Given the description of an element on the screen output the (x, y) to click on. 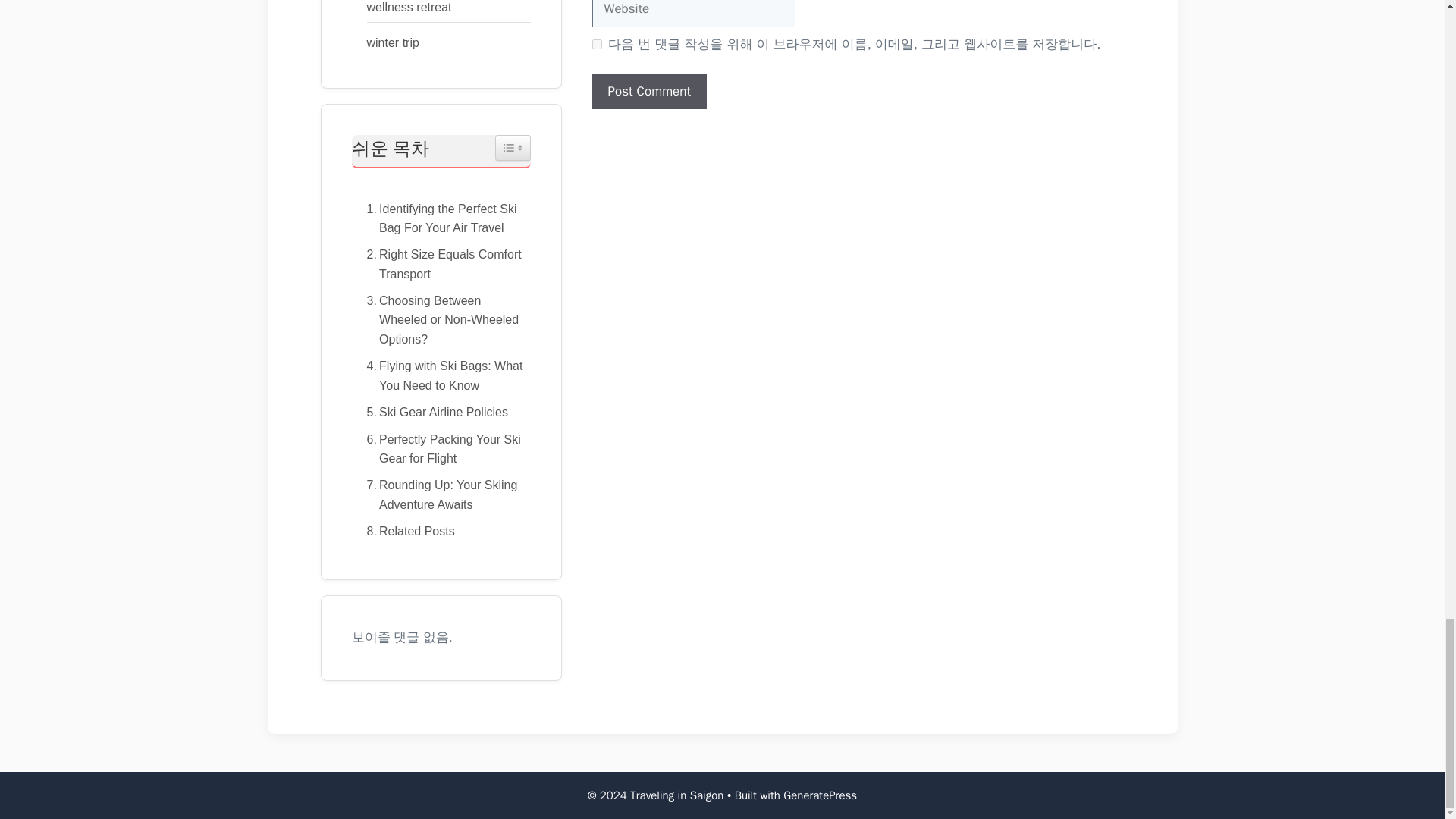
Rounding Up: Your Skiing Adventure Awaits (440, 494)
Choosing Between Wheeled or Non-Wheeled Options? (440, 320)
yes (596, 44)
Perfectly Packing Your Ski Gear for Flight (440, 448)
Identifying the Perfect Ski Bag For Your Air Travel (440, 218)
Related Posts (406, 531)
Ski Gear Airline Policies (433, 412)
Post Comment (648, 91)
Post Comment (648, 91)
Right Size Equals Comfort Transport (440, 263)
Flying with Ski Bags: What You Need to Know  (440, 375)
